Given the description of an element on the screen output the (x, y) to click on. 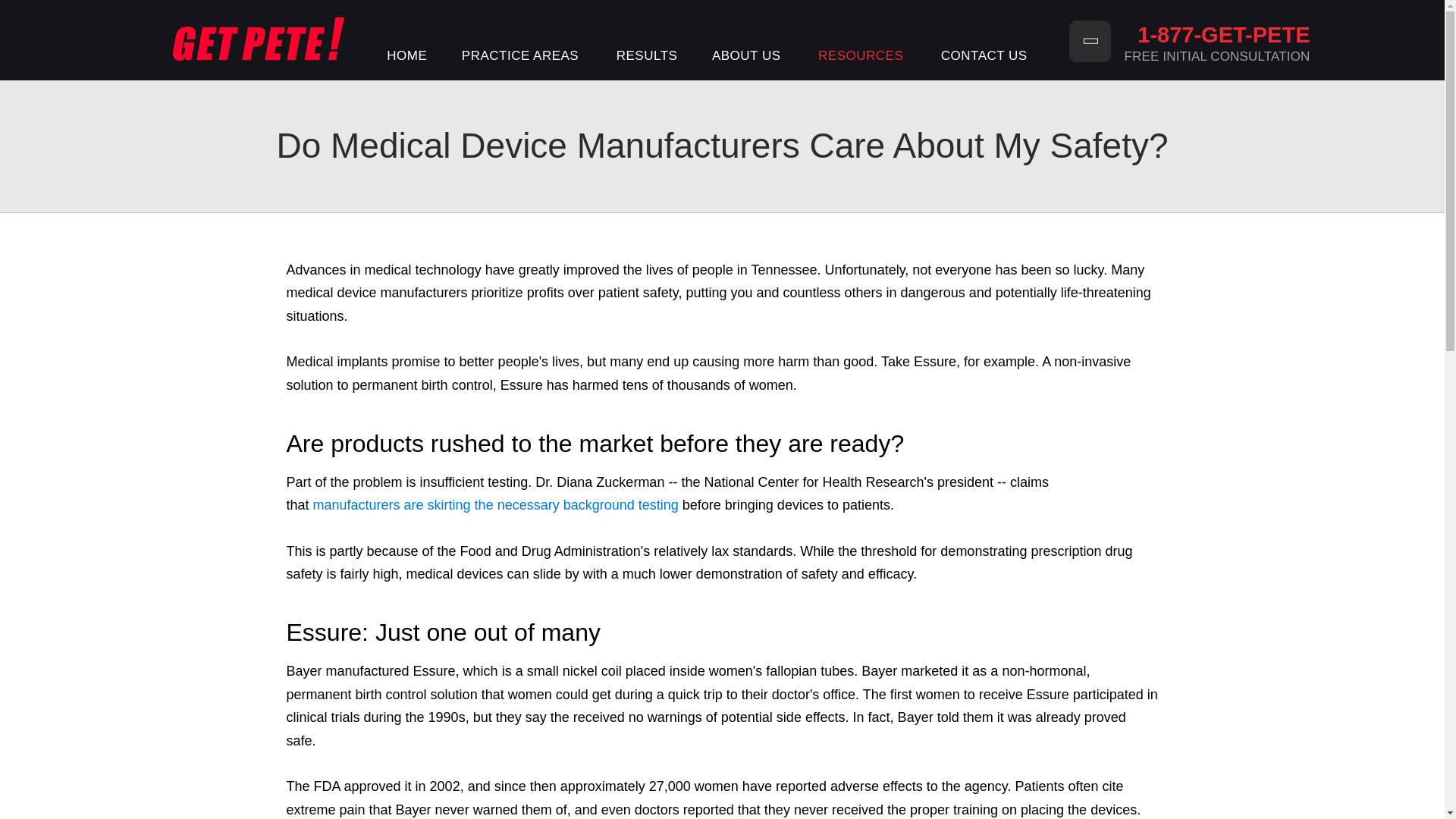
1-877-GET-PETE (1217, 34)
ABOUT US (747, 57)
PRACTICE AREAS (521, 57)
RESULTS (646, 57)
CONTACT US (984, 57)
HOME (407, 57)
manufacturers are skirting the necessary background testing (495, 504)
FREE INITIAL CONSULTATION (1217, 56)
RESOURCES (861, 57)
